Given the description of an element on the screen output the (x, y) to click on. 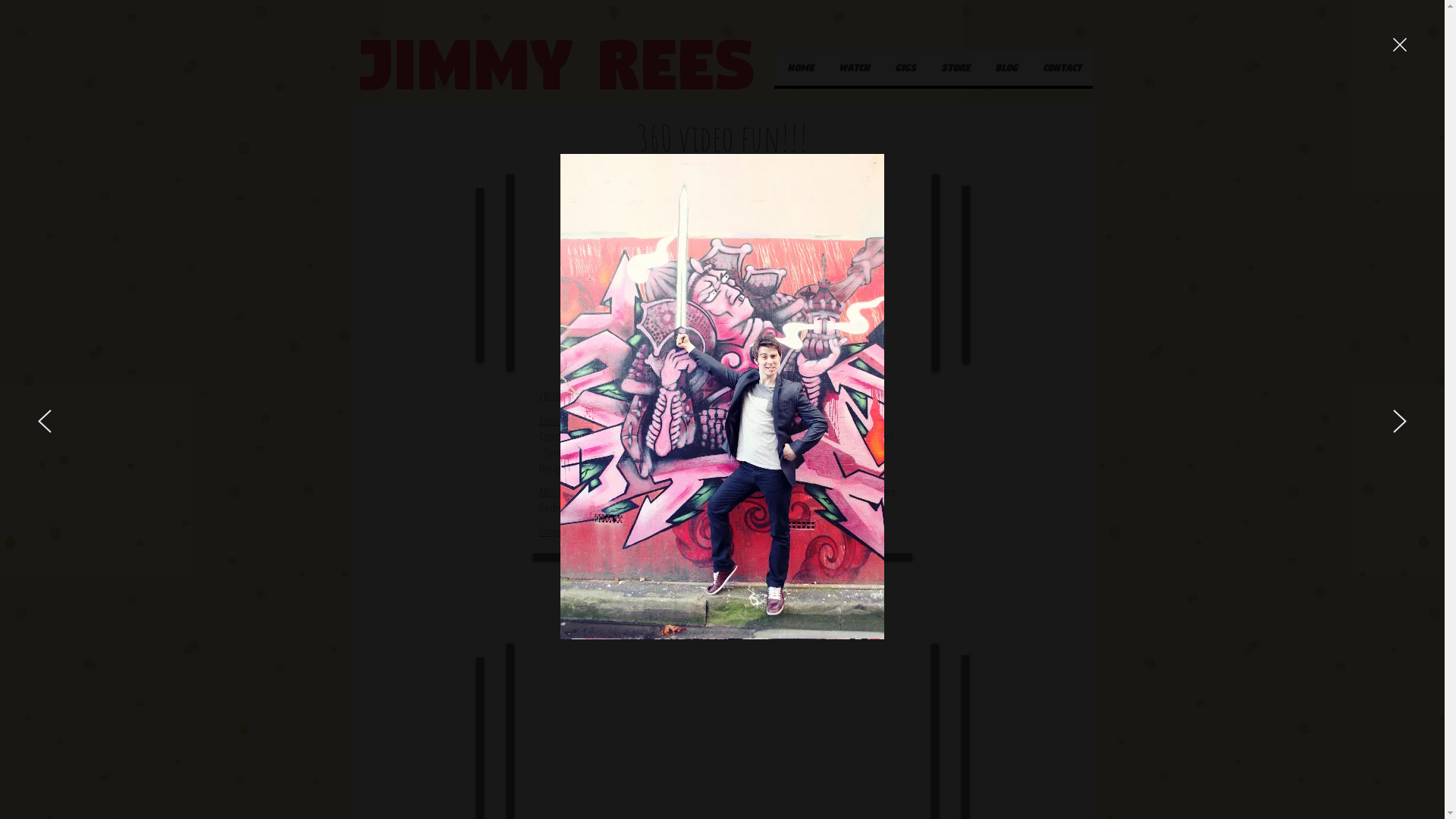
Watch Element type: text (853, 67)
Embedded Content Element type: hover (722, 272)
Store Element type: text (953, 67)
Gigs Element type: text (904, 67)
Blog Element type: text (1005, 67)
Contact Element type: text (1060, 67)
Home Element type: text (798, 67)
JIMMY REES Element type: text (555, 57)
